Given the description of an element on the screen output the (x, y) to click on. 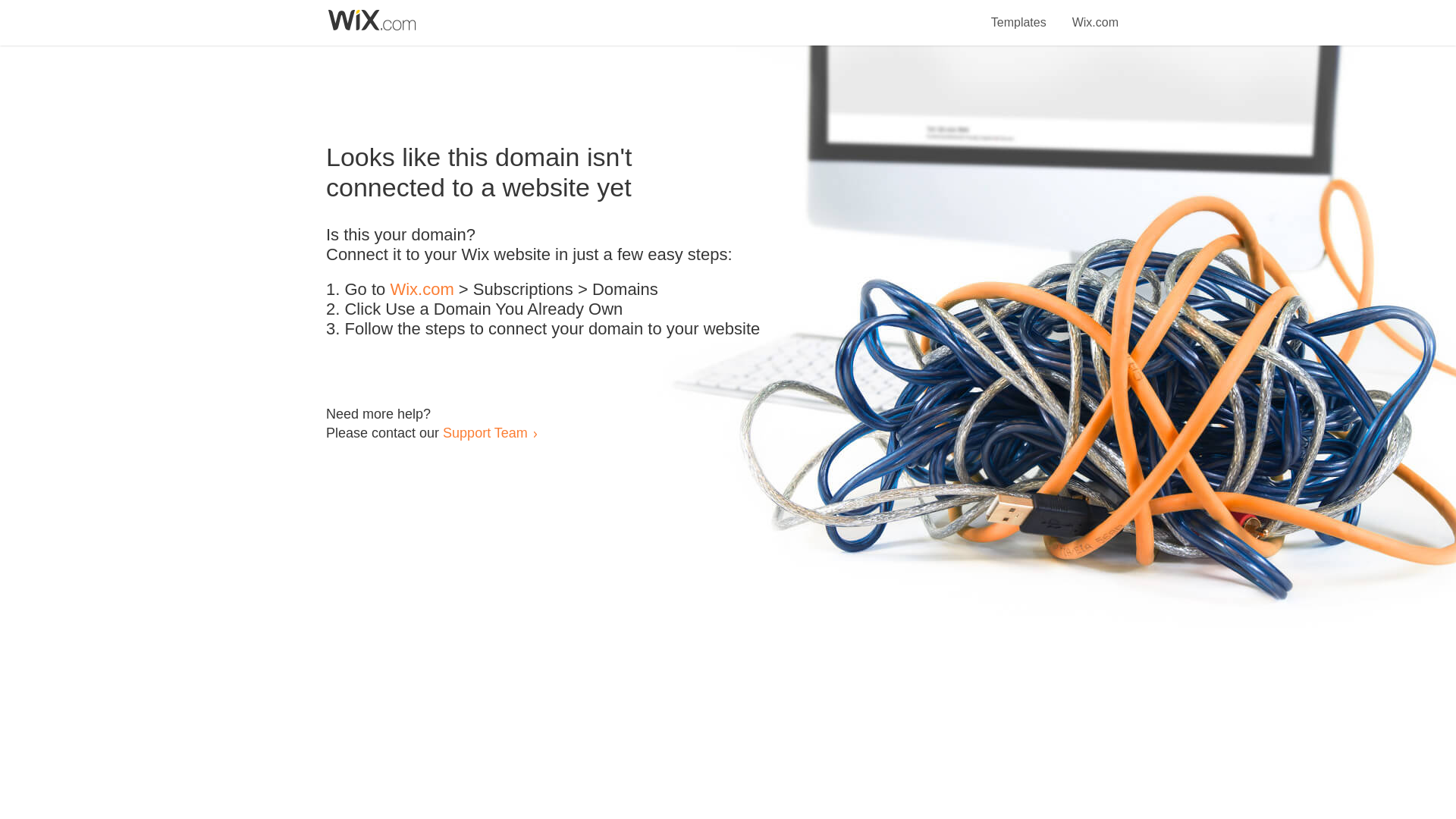
Wix.com (421, 289)
Templates (1018, 14)
Support Team (484, 432)
Wix.com (1095, 14)
